Given the description of an element on the screen output the (x, y) to click on. 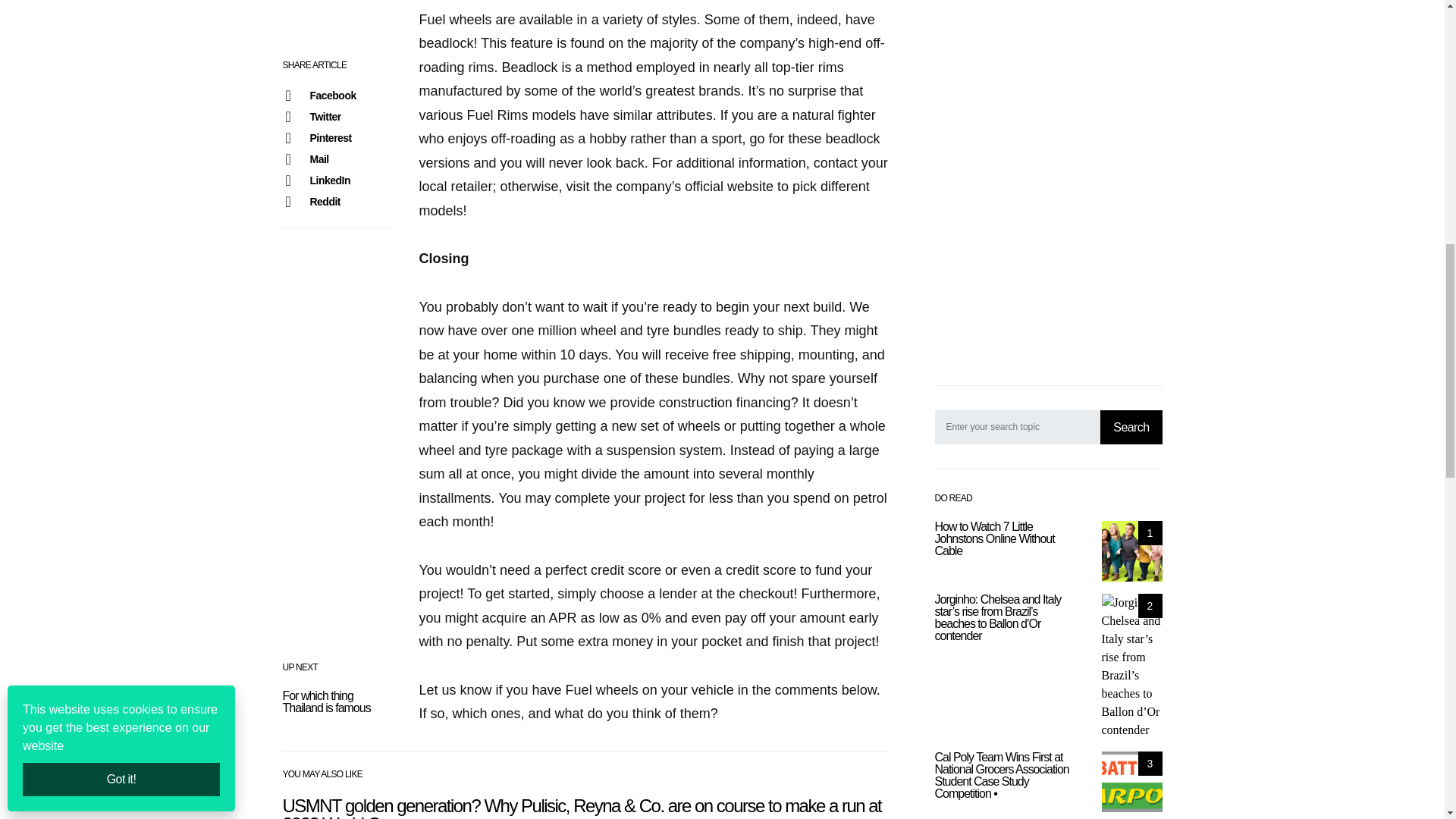
For which thing Thailand is famous (325, 700)
How to Watch 7 Little Johnstons Online Without Cable (1130, 550)
Search (1130, 427)
